Given the description of an element on the screen output the (x, y) to click on. 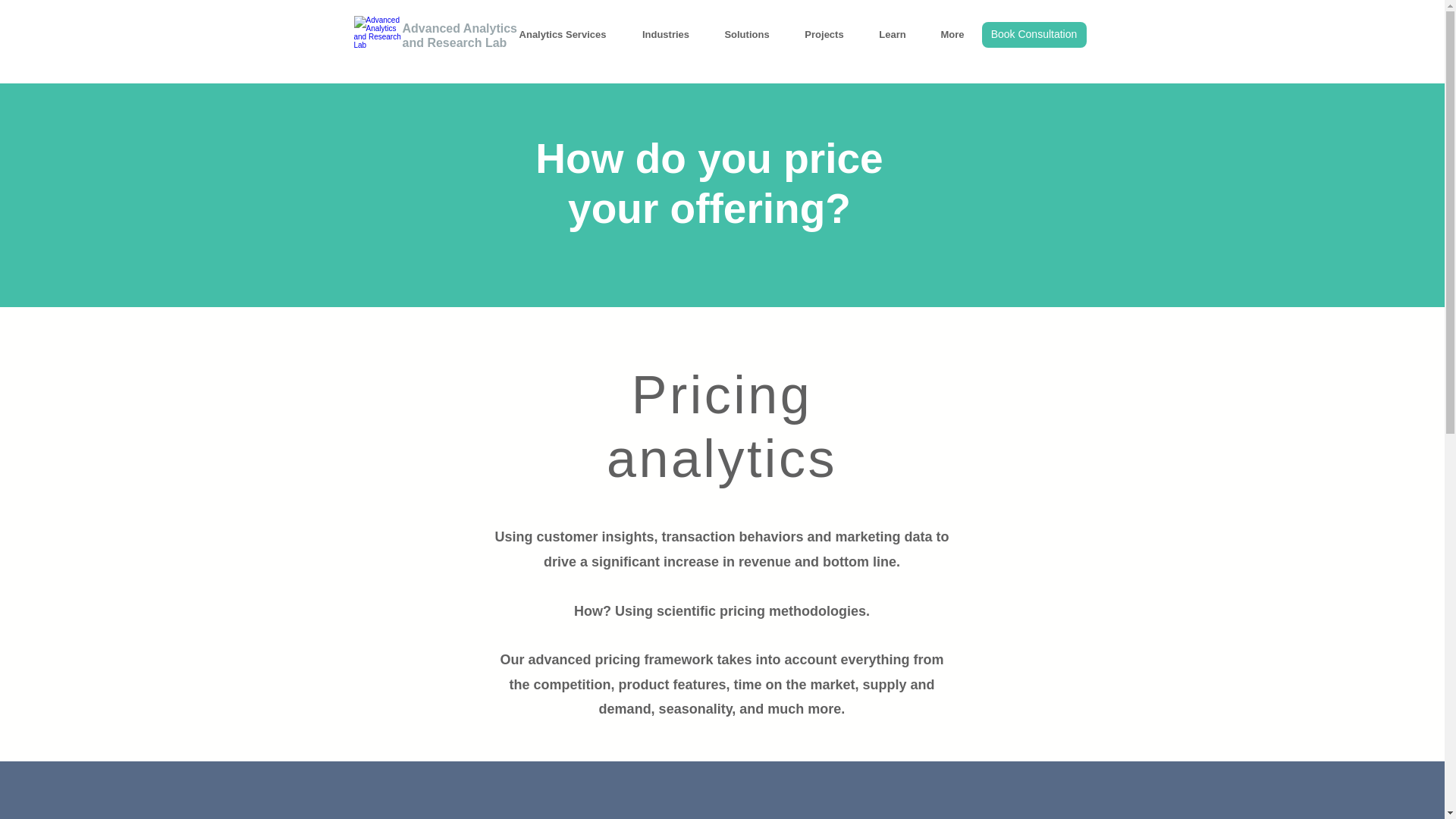
Projects (824, 34)
Solutions (746, 34)
Industries (665, 34)
Advanced Analytics  (460, 28)
and Research Lab (453, 42)
Analytics Services (562, 34)
Book Consultation (1033, 34)
